Given the description of an element on the screen output the (x, y) to click on. 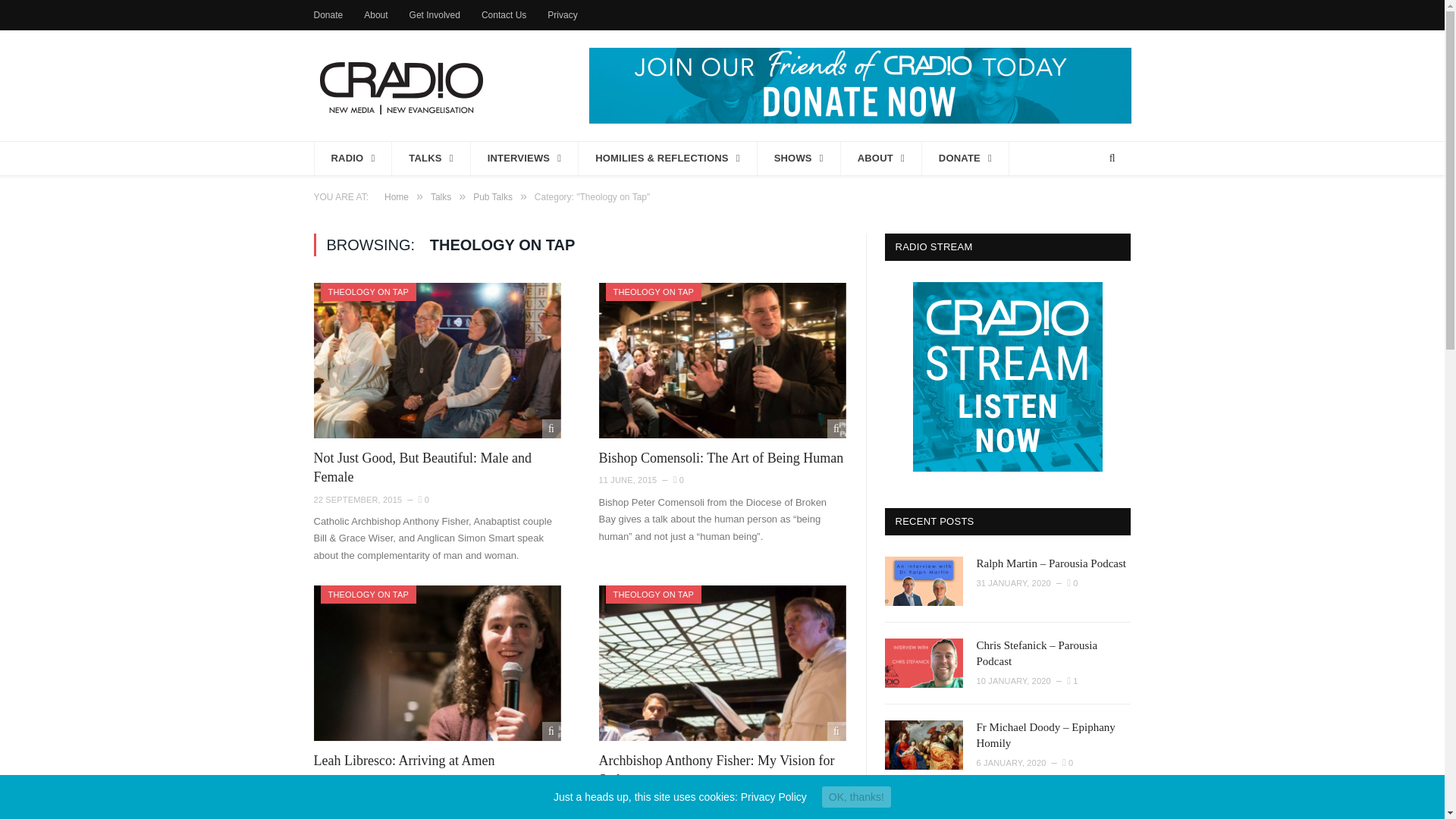
Privacy (561, 14)
Contact Us (503, 14)
Get Involved (434, 14)
About (375, 14)
TALKS (430, 158)
Donate (328, 14)
RADIO (353, 158)
Cradio (400, 84)
